Given the description of an element on the screen output the (x, y) to click on. 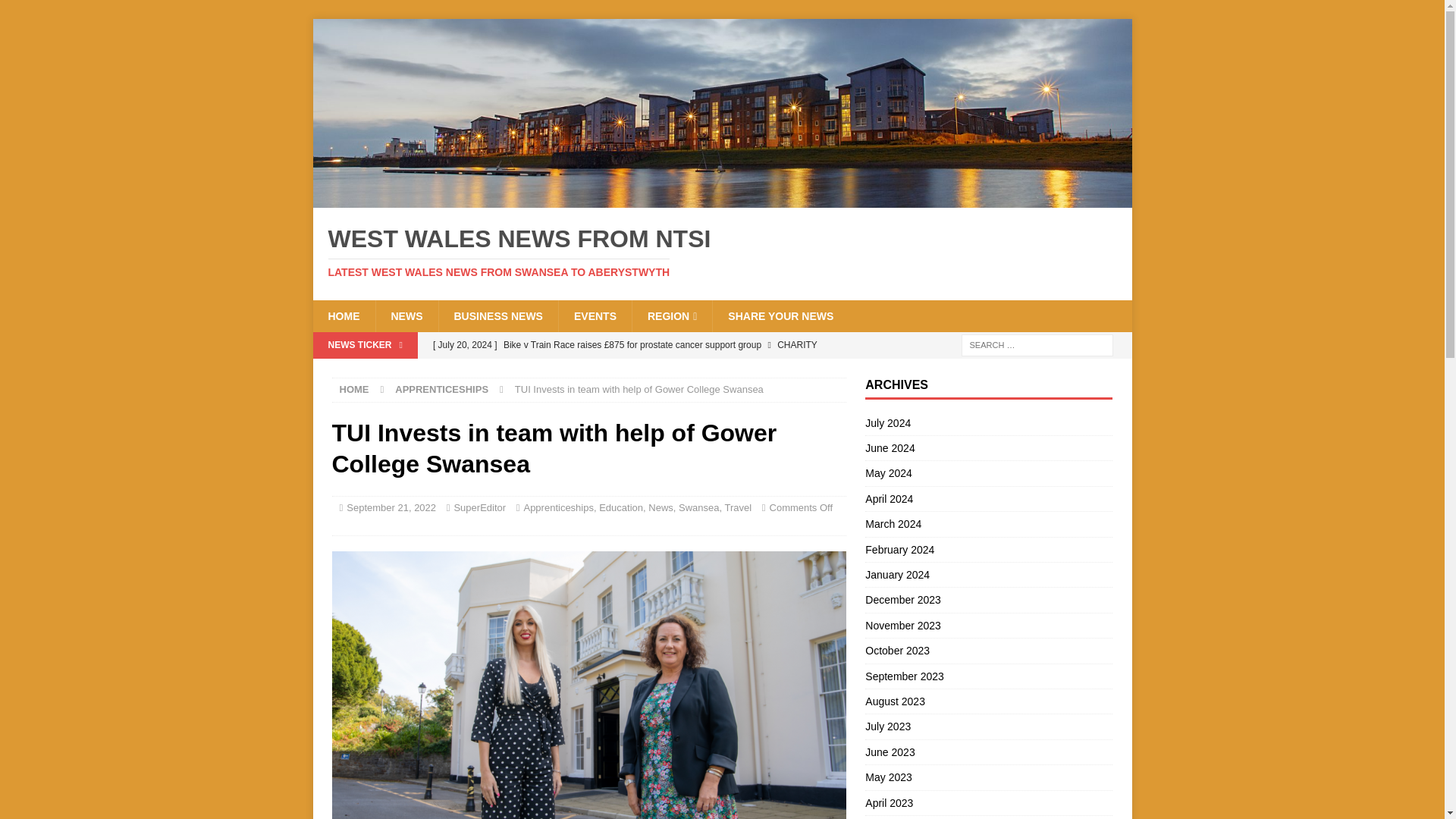
BUSINESS NEWS (497, 316)
REGION (671, 316)
West Wales News from NTSI (722, 199)
West Wales News from NTSI (721, 252)
HOME (343, 316)
EVENTS (594, 316)
NEWS (406, 316)
